Given the description of an element on the screen output the (x, y) to click on. 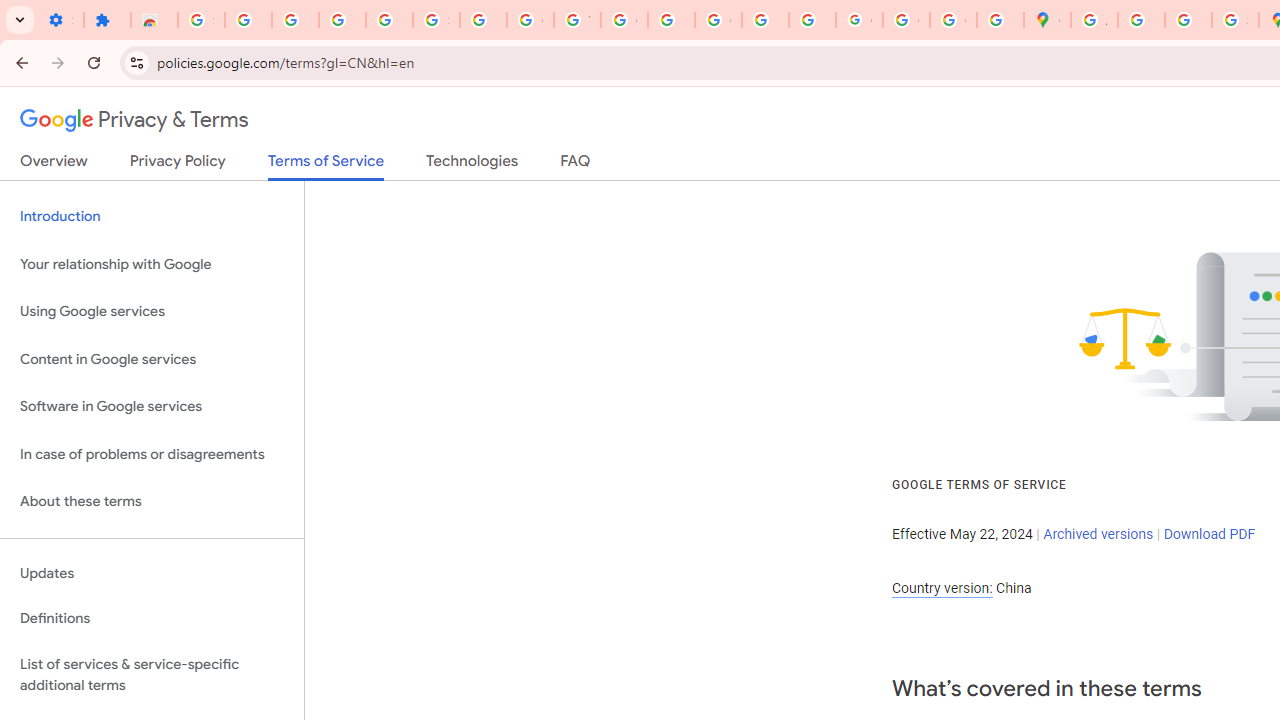
Country version: (942, 588)
Your relationship with Google (152, 263)
Google Maps (1047, 20)
Delete photos & videos - Computer - Google Photos Help (294, 20)
Google Account (530, 20)
